Given the description of an element on the screen output the (x, y) to click on. 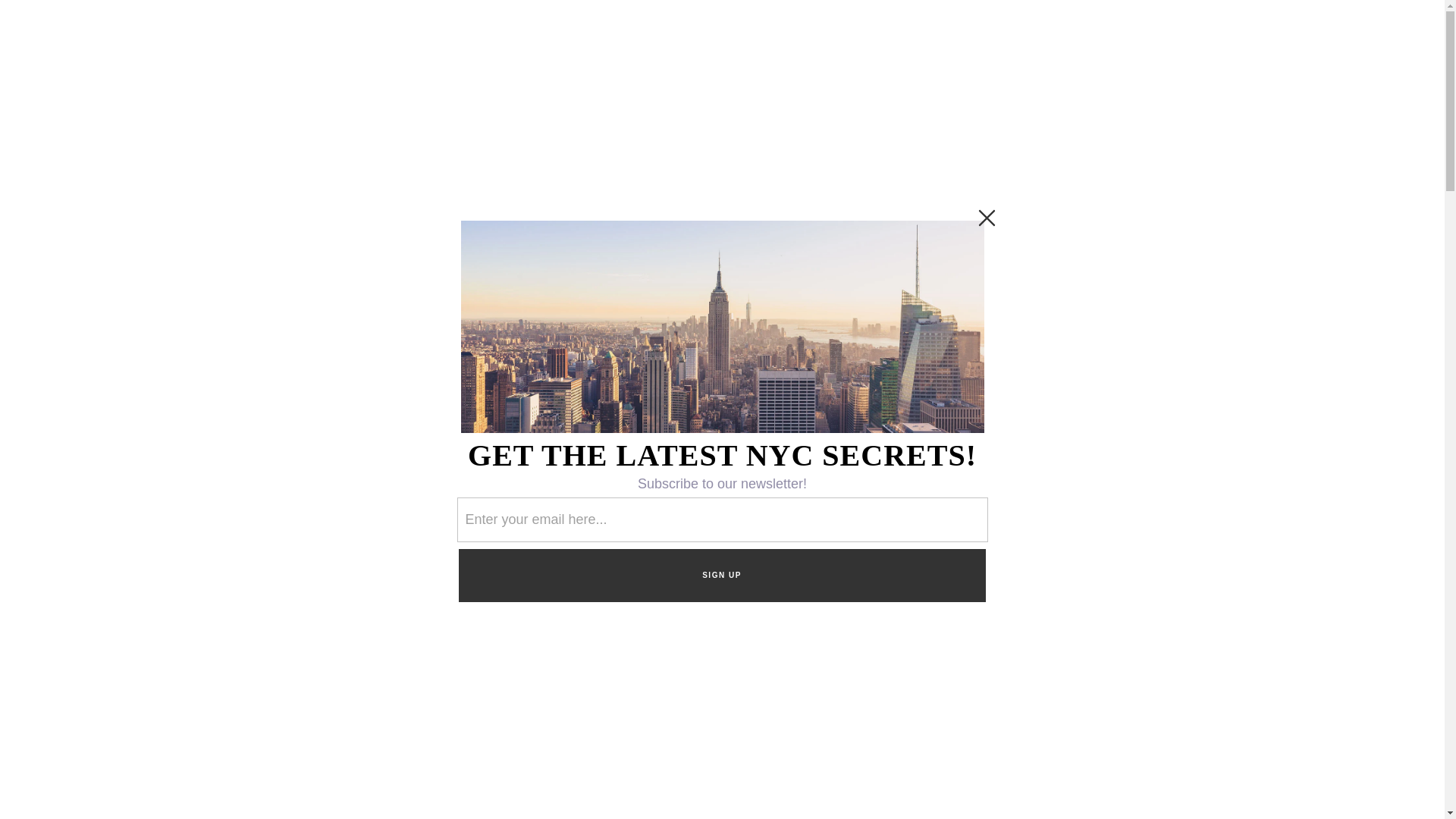
off canvas button (91, 68)
e99a09560c (992, 356)
7cff6a70fd (1031, 356)
Post by Shervin Abdolhamidi (381, 393)
Sign up (1030, 395)
